Given the description of an element on the screen output the (x, y) to click on. 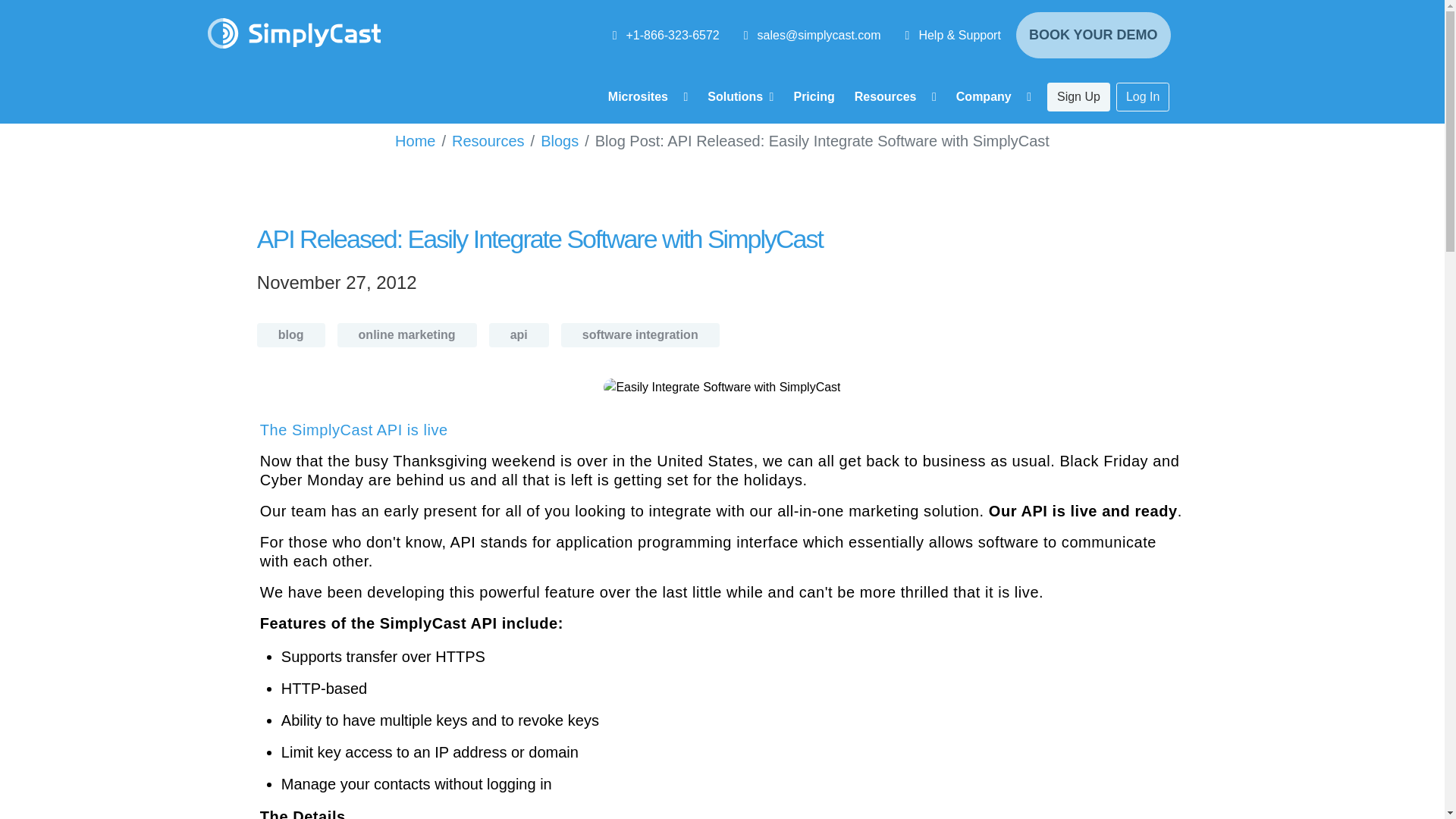
Microsites (647, 96)
Solutions (740, 96)
BOOK YOUR DEMO (1093, 35)
